Given the description of an element on the screen output the (x, y) to click on. 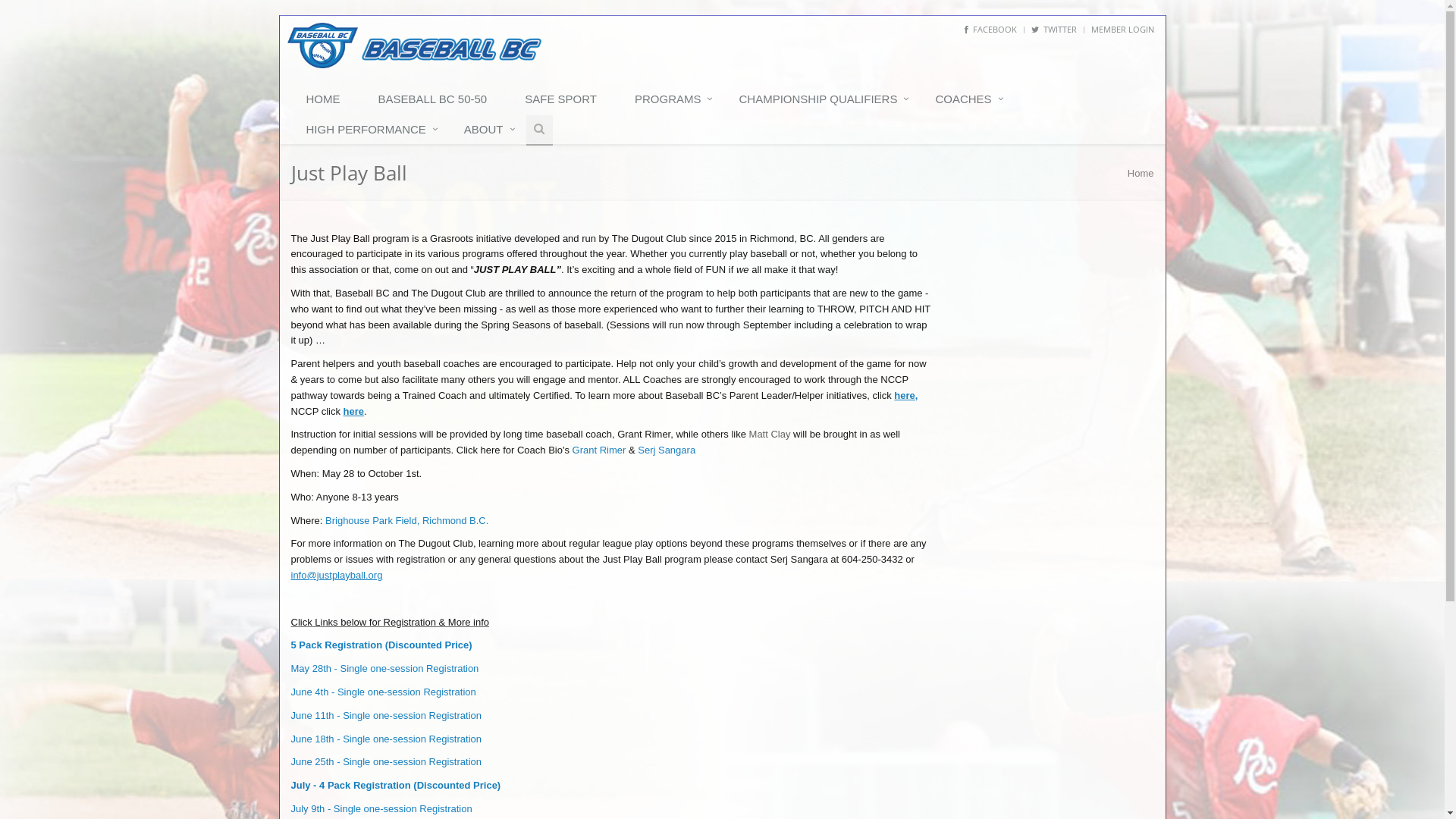
June 11th - Single one-session Registration Element type: text (386, 715)
COACHES Element type: text (966, 99)
BASEBALL BC 50-50 Element type: text (435, 99)
MEMBER LOGIN Element type: text (1121, 28)
May 28th - Single one-session Registration Element type: text (385, 668)
July - 4 Pack Registration (Discounted Price) Element type: text (396, 784)
July 9th - Single one-session Registration Element type: text (381, 808)
June 4th - Single one-session Registration Element type: text (383, 691)
ABOUT Element type: text (487, 130)
here Element type: text (353, 411)
  TWITTER Element type: text (1053, 28)
  FACEBOOK Element type: text (990, 28)
PROGRAMS Element type: text (671, 99)
SAFE SPORT Element type: text (564, 99)
info@justplayball.org Element type: text (336, 574)
HOME Element type: text (327, 99)
June 25th - Single one-session Registration Element type: text (386, 761)
here Element type: text (904, 395)
Serj Sangara Element type: text (666, 449)
June 18th - Single one-session Registration Element type: text (386, 738)
CHAMPIONSHIP QUALIFIERS Element type: text (821, 99)
Grant Rimer Element type: text (599, 449)
Brighouse Park Field, Richmond B.C. Element type: text (406, 520)
Home Element type: text (1140, 172)
5 Pack Registration (Discounted Price) Element type: text (381, 644)
HIGH PERFORMANCE Element type: text (369, 130)
